Given the description of an element on the screen output the (x, y) to click on. 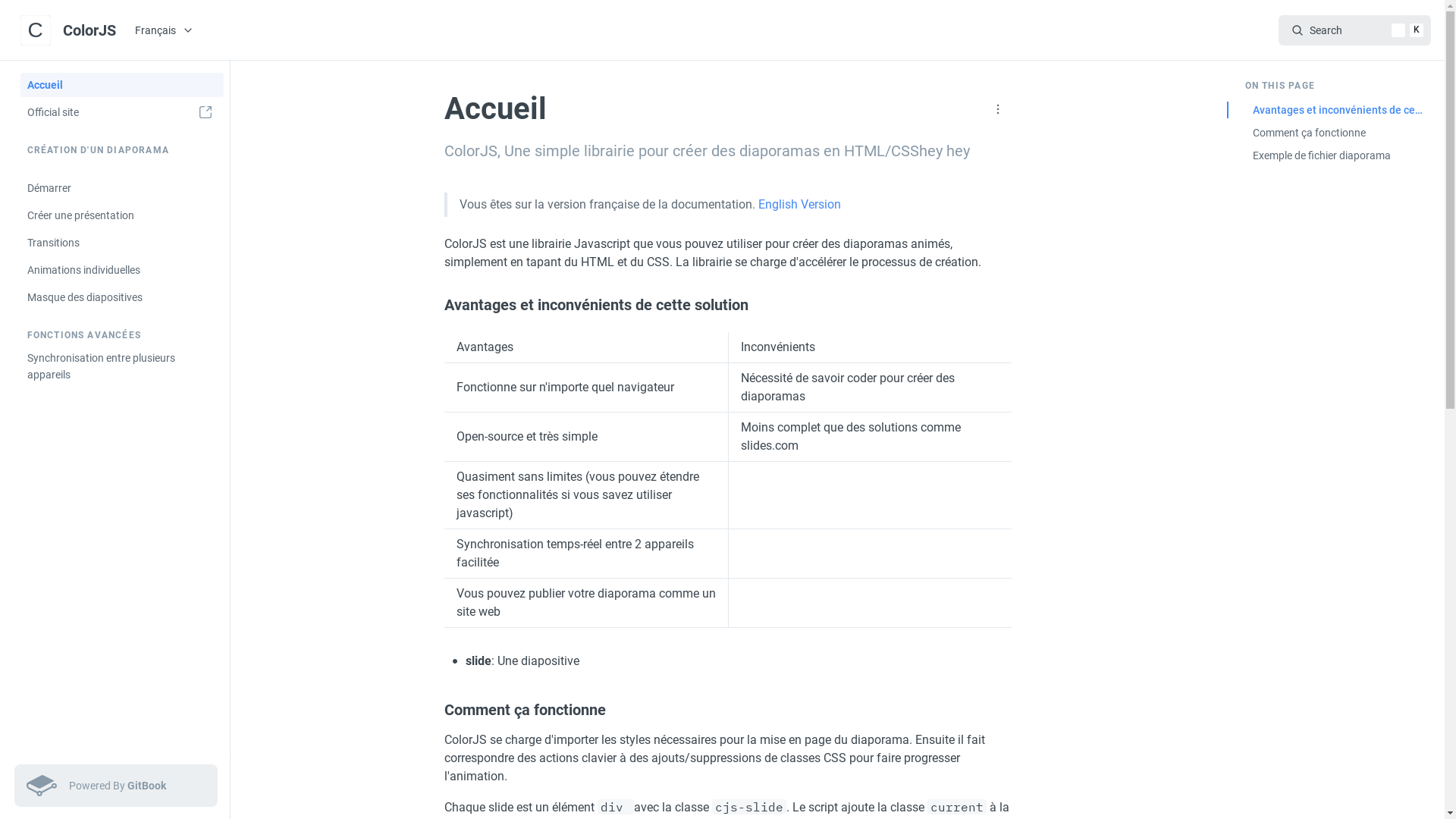
Animations individuelles Element type: text (120, 269)
Official site Element type: text (120, 112)
Synchronisation entre plusieurs appareils Element type: text (120, 365)
English Version Element type: text (799, 204)
Transitions Element type: text (120, 242)
Masque des diapositives Element type: text (120, 297)
Powered By GitBook Element type: text (114, 785)
Accueil Element type: text (120, 84)
C
ColorJS Element type: text (70, 30)
